Given the description of an element on the screen output the (x, y) to click on. 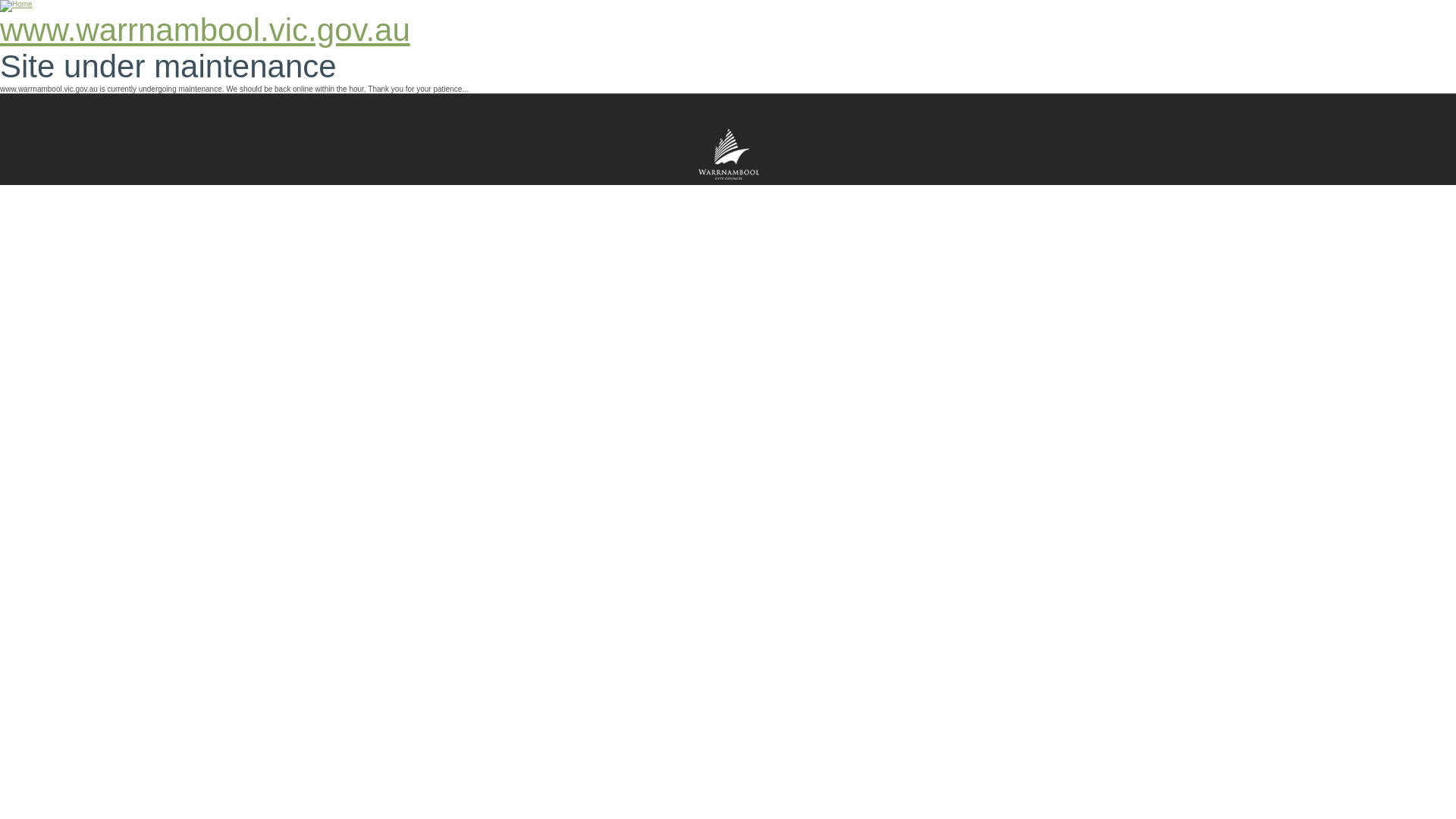
Home Element type: hover (16, 6)
www.warrnambool.vic.gov.au Element type: text (205, 29)
